Given the description of an element on the screen output the (x, y) to click on. 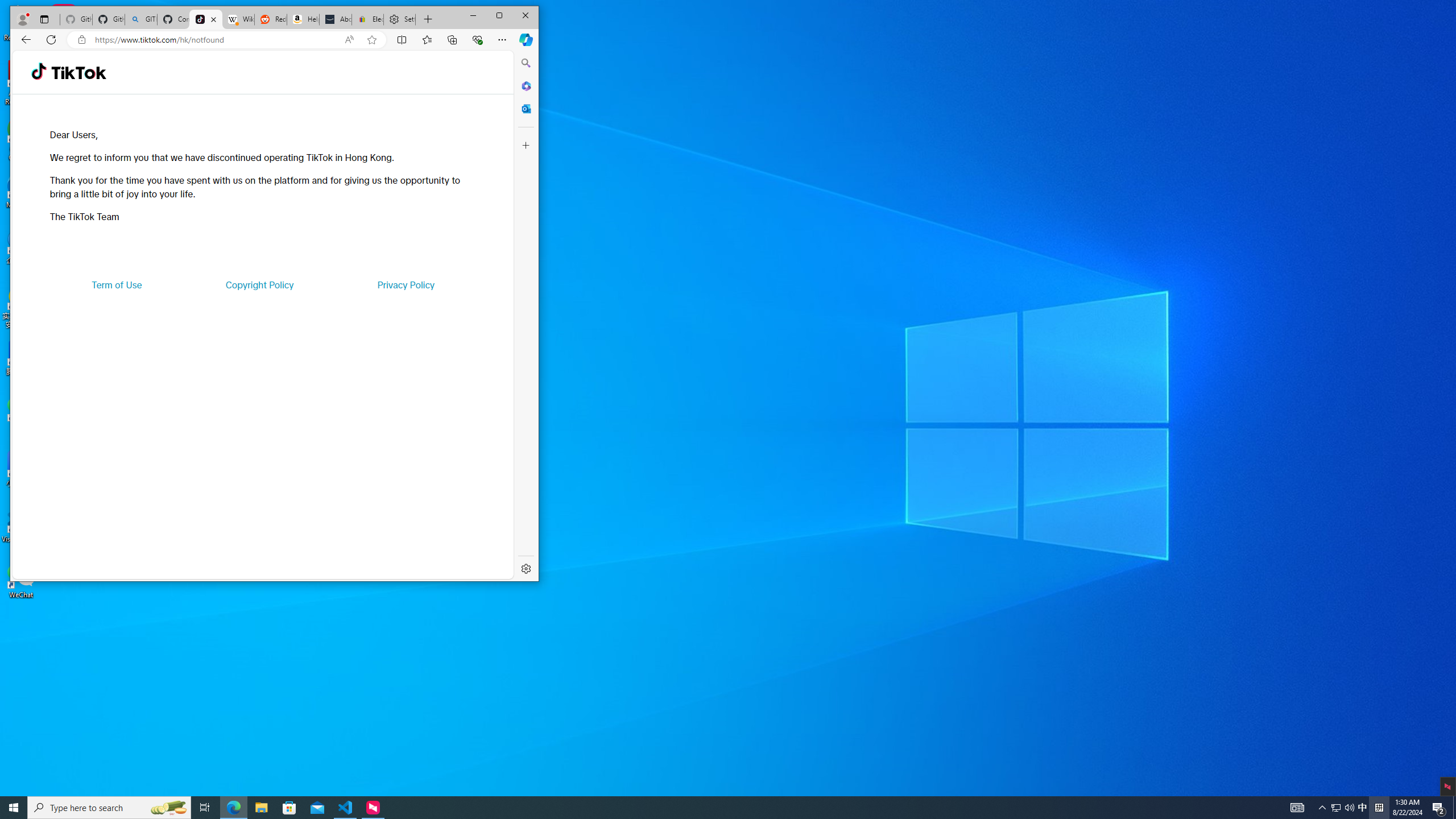
Microsoft Edge - 1 running window (1362, 807)
Term of Use (233, 807)
About Amazon (116, 284)
